Given the description of an element on the screen output the (x, y) to click on. 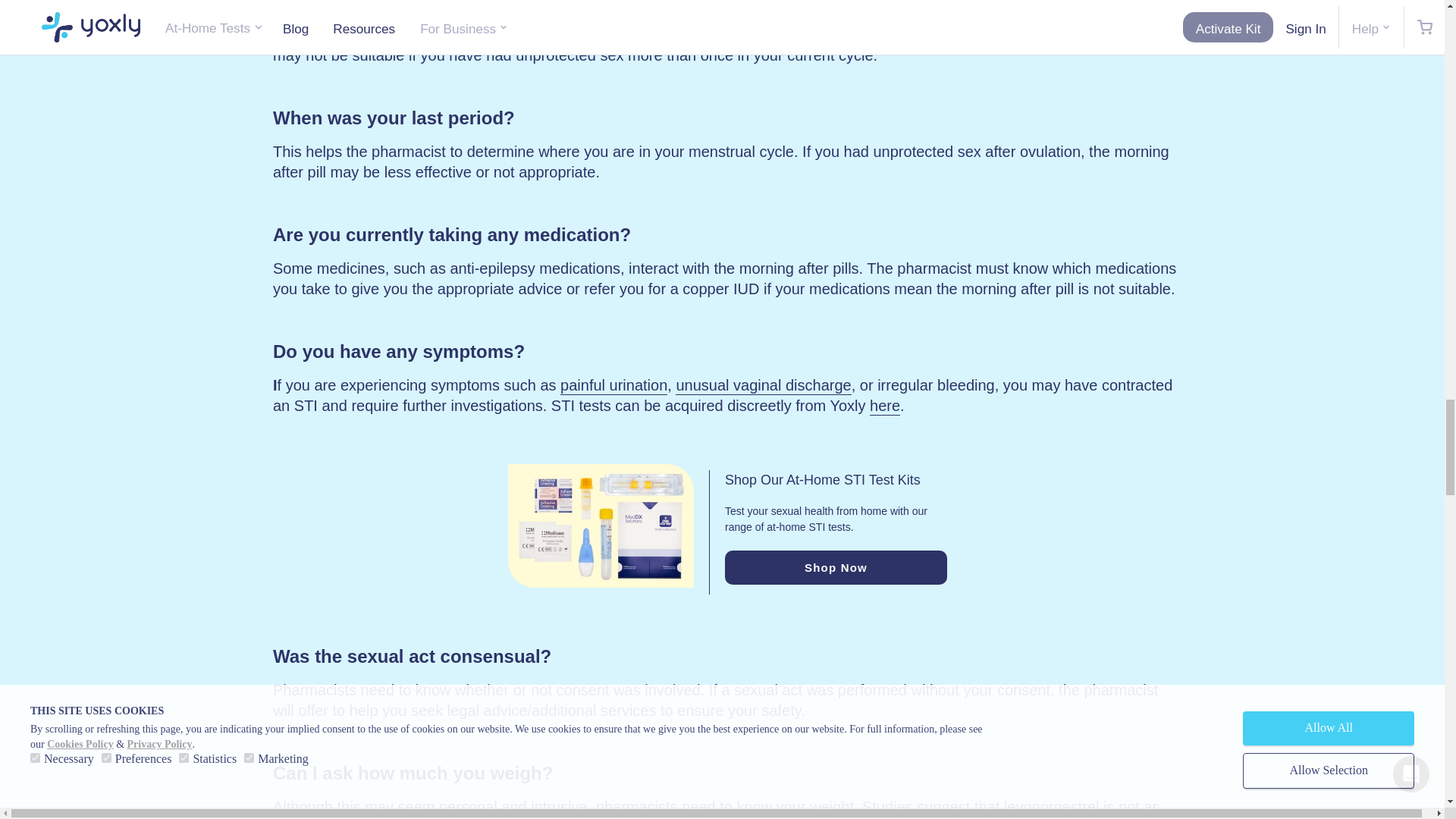
painful urination (613, 385)
Studies (886, 807)
here (884, 406)
Shop Now (836, 567)
unusual vaginal discharge (762, 385)
